Given the description of an element on the screen output the (x, y) to click on. 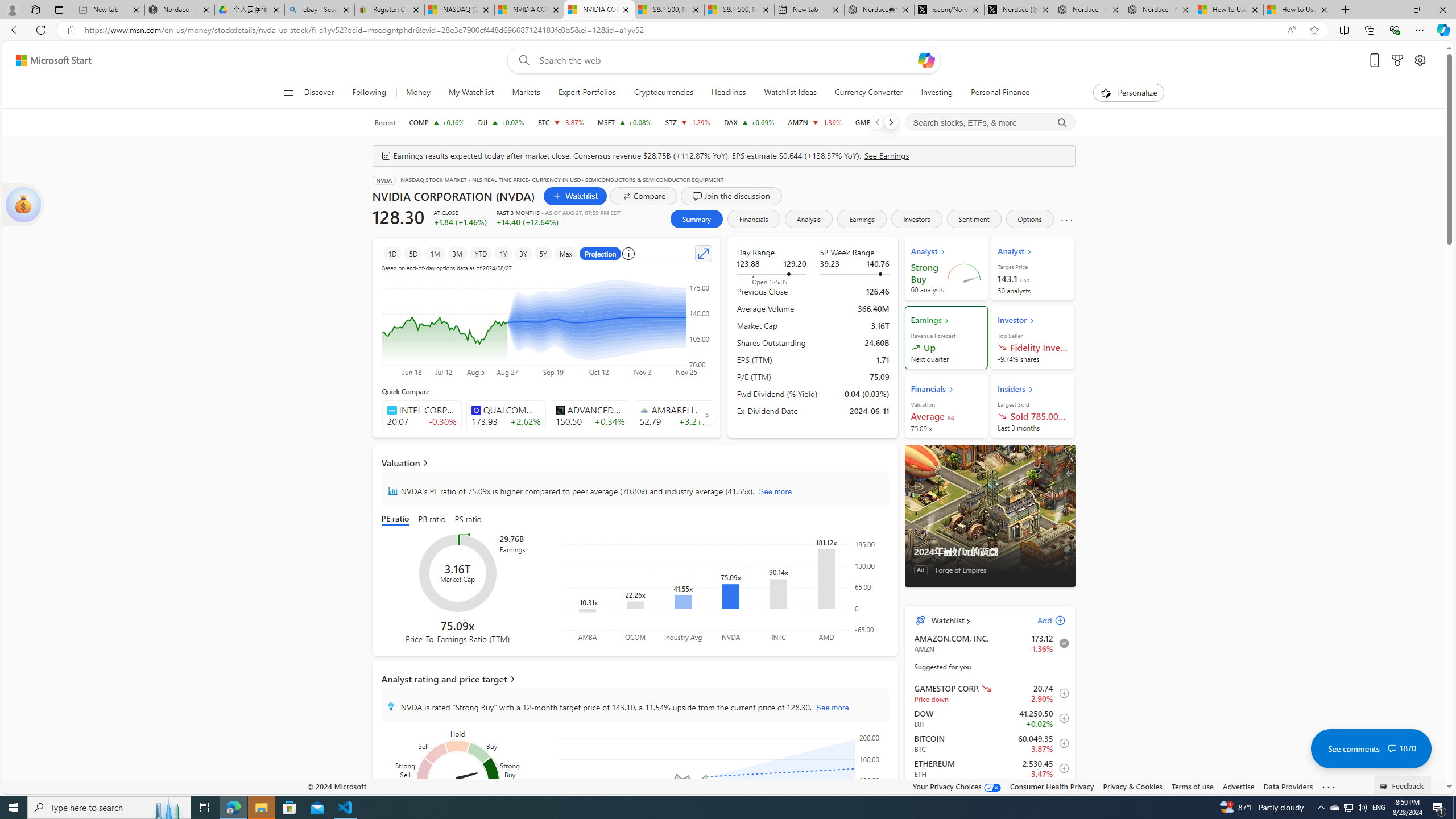
Skip to footer (46, 59)
Investing (936, 92)
Watchlist (575, 195)
Discover (319, 92)
DAX DAX increase 18,810.79 +128.98 +0.69% (748, 122)
Earnings (861, 218)
Feedback (1402, 784)
Markets (526, 92)
GME GAMESTOP CORP. decrease 20.74 -0.62 -2.90% (879, 122)
My Watchlist (470, 92)
Open Copilot (925, 59)
See comments 1870 (1370, 748)
